Given the description of an element on the screen output the (x, y) to click on. 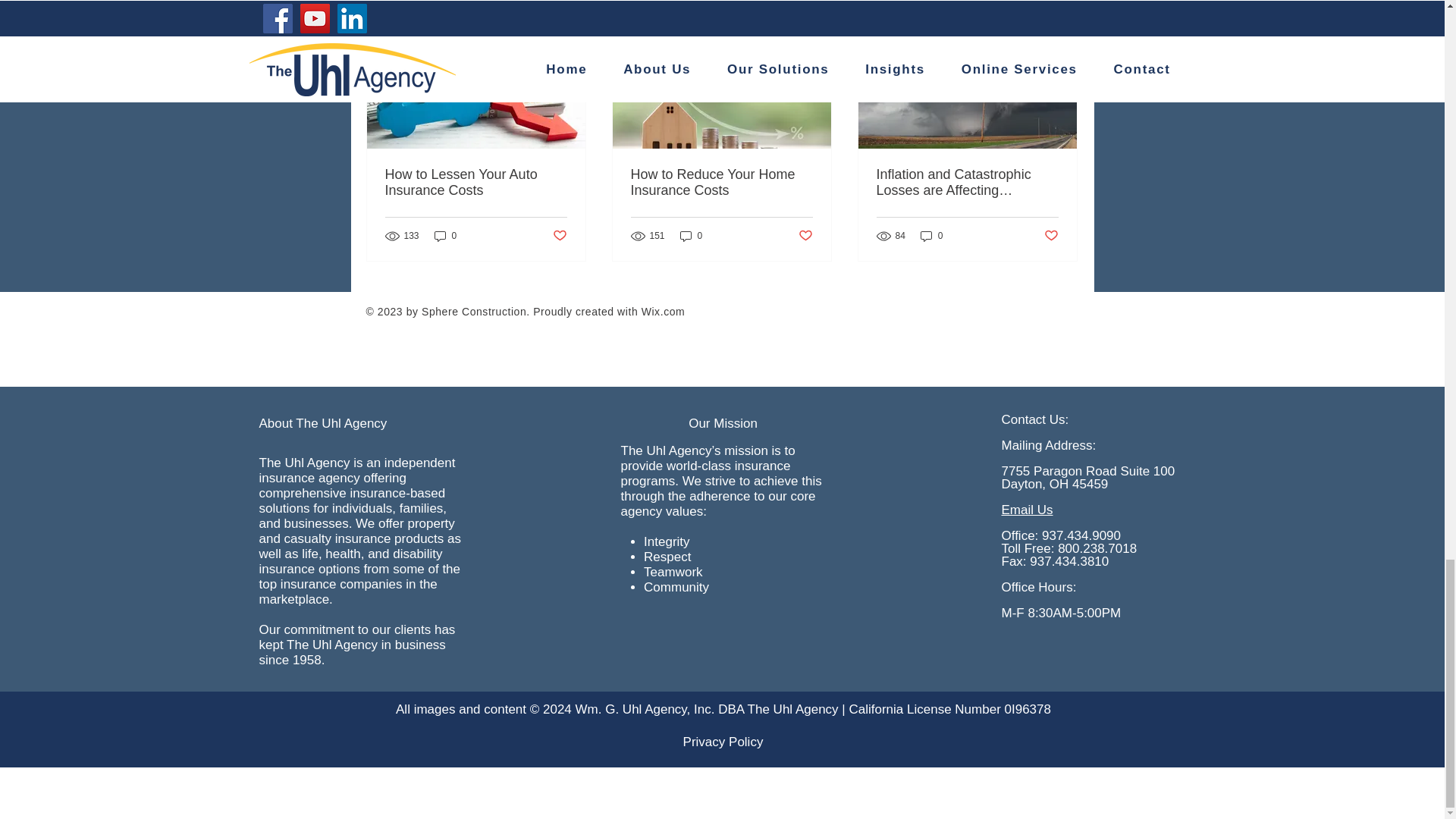
How to Lessen Your Auto Insurance Costs (476, 183)
See All (1061, 4)
0 (445, 236)
Post not marked as liked (558, 236)
